Given the description of an element on the screen output the (x, y) to click on. 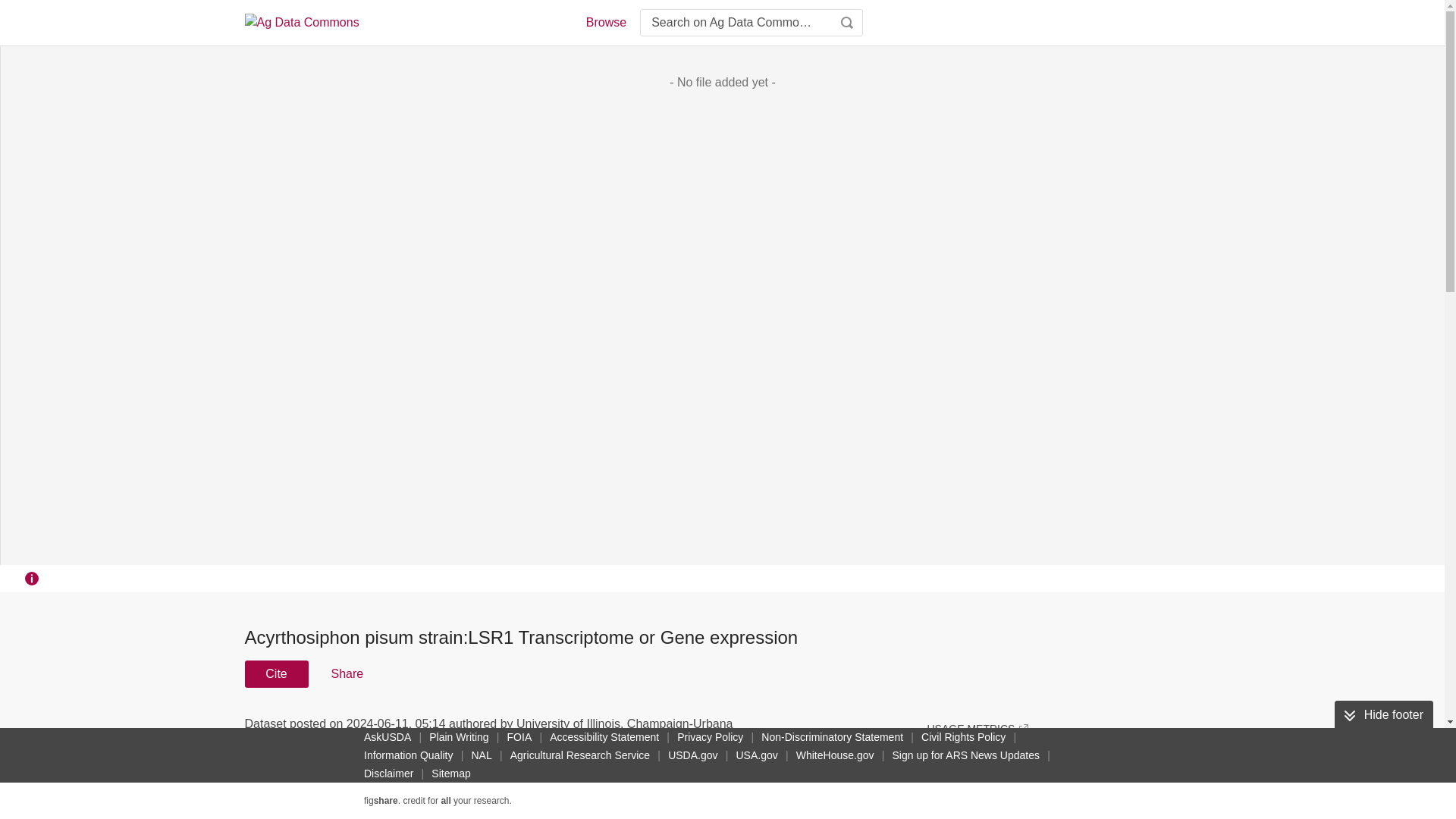
FOIA (519, 737)
Plain Writing (459, 737)
AskUSDA (386, 737)
Privacy Policy (710, 737)
NAL (481, 755)
Sign up for ARS News Updates (964, 755)
USAGE METRICS (976, 728)
Hide footer (1383, 715)
Browse (605, 22)
WhiteHouse.gov (835, 755)
